Given the description of an element on the screen output the (x, y) to click on. 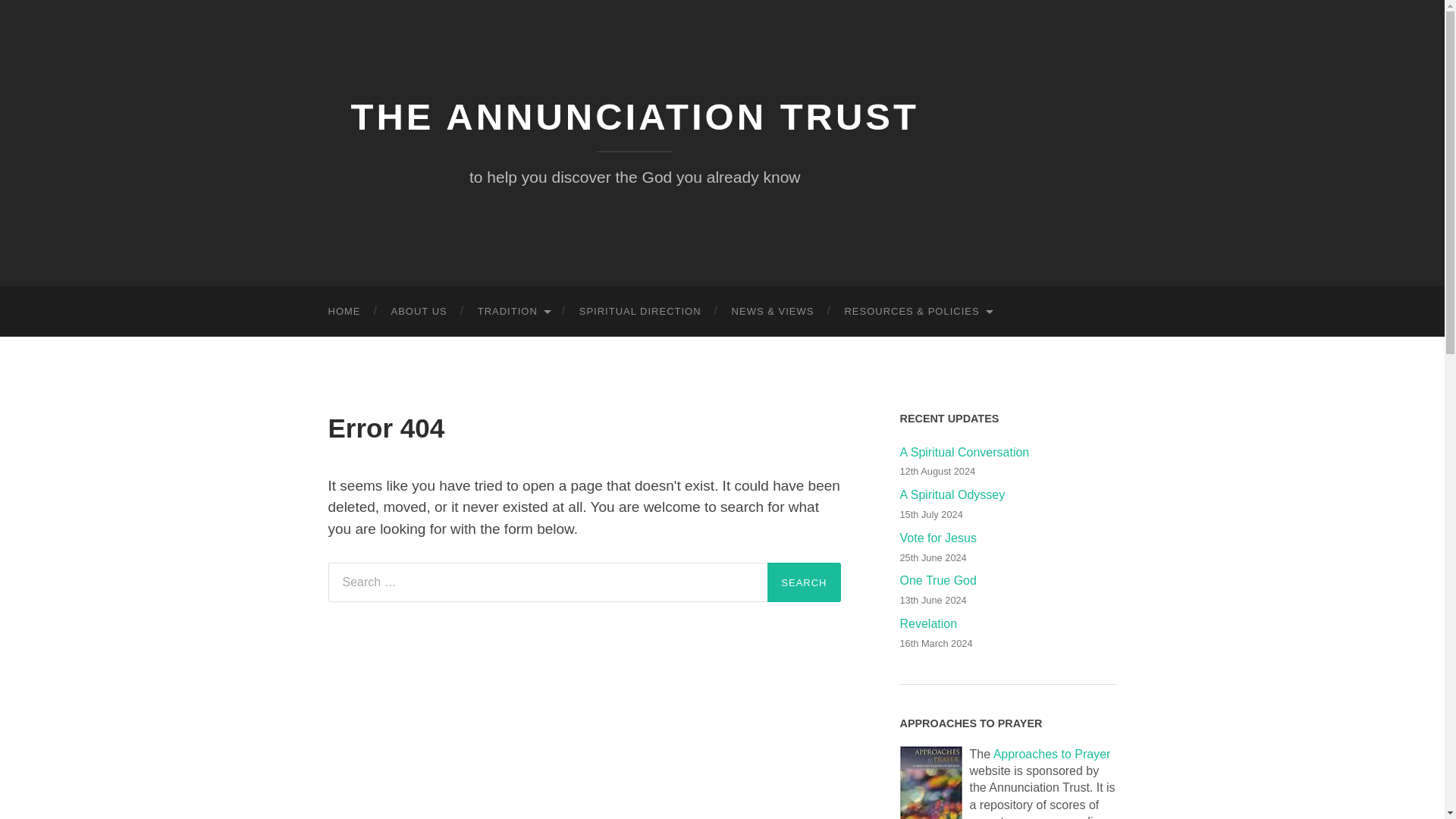
ABOUT US (419, 310)
A Spiritual Conversation (1007, 453)
One True God (1007, 580)
SPIRITUAL DIRECTION (640, 310)
Vote for Jesus (1007, 538)
TRADITION (513, 310)
THE ANNUNCIATION TRUST (634, 116)
HOME (344, 310)
Search (803, 581)
Search (803, 581)
